Given the description of an element on the screen output the (x, y) to click on. 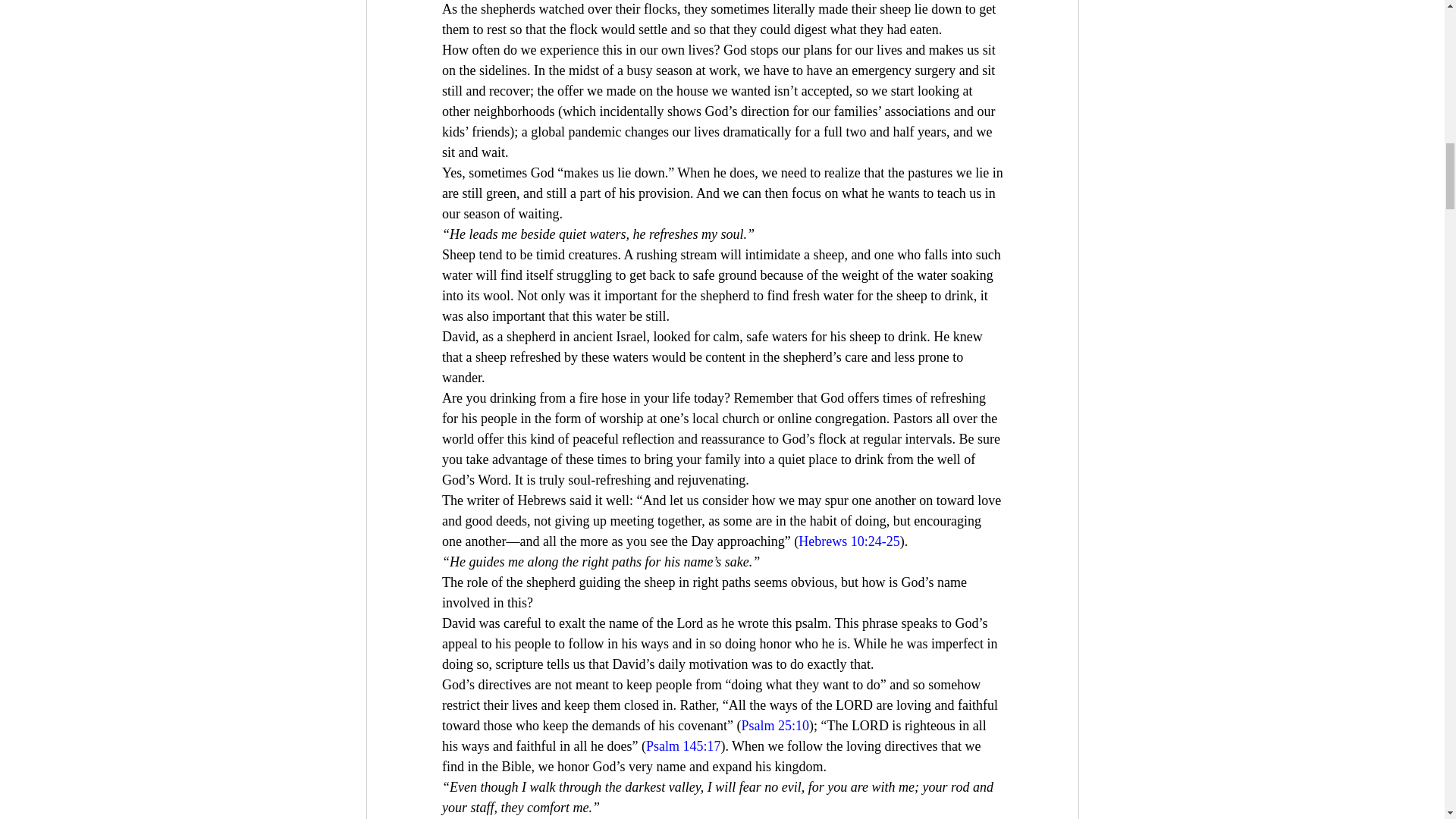
Psalm 145:17 (682, 745)
Hebrews 10:24-25 (848, 540)
Psalm 25:10 (775, 725)
